Given the description of an element on the screen output the (x, y) to click on. 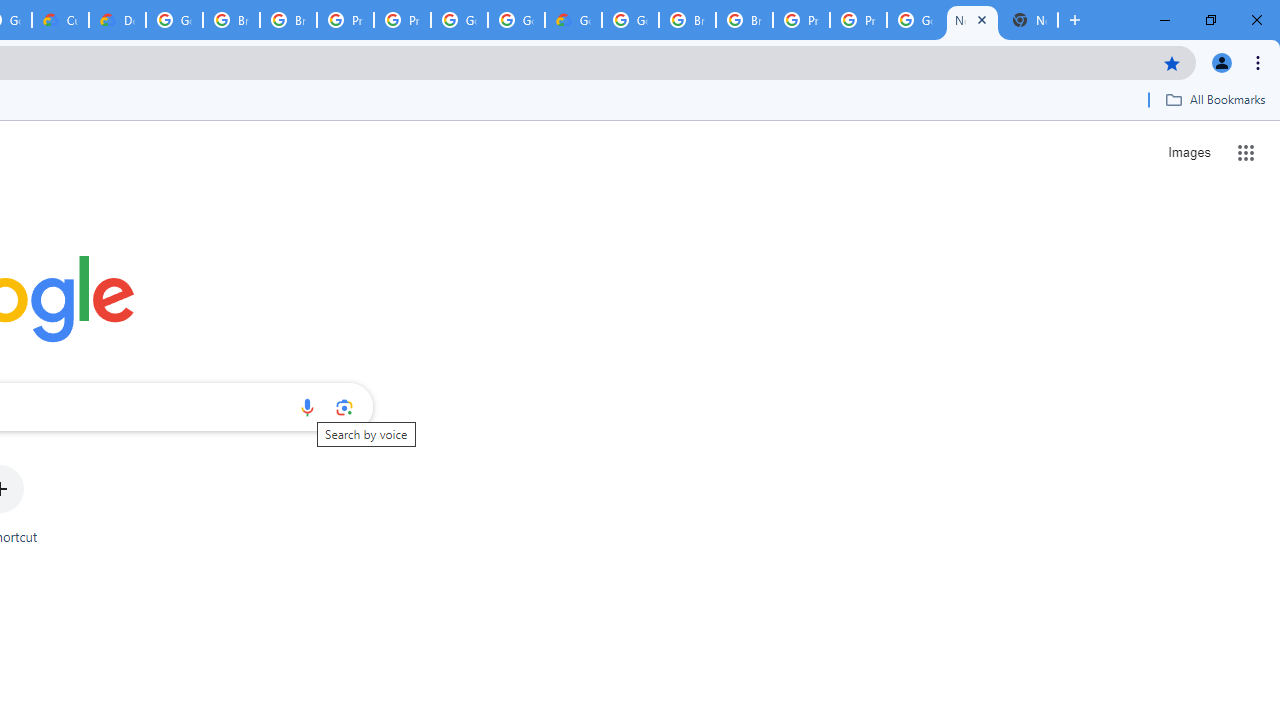
Google Cloud Platform (459, 20)
Browse Chrome as a guest - Computer - Google Chrome Help (231, 20)
Google Cloud Platform (174, 20)
Search for Images  (1188, 152)
Customer Care | Google Cloud (60, 20)
Google Cloud Estimate Summary (573, 20)
Search by image (344, 407)
